Given the description of an element on the screen output the (x, y) to click on. 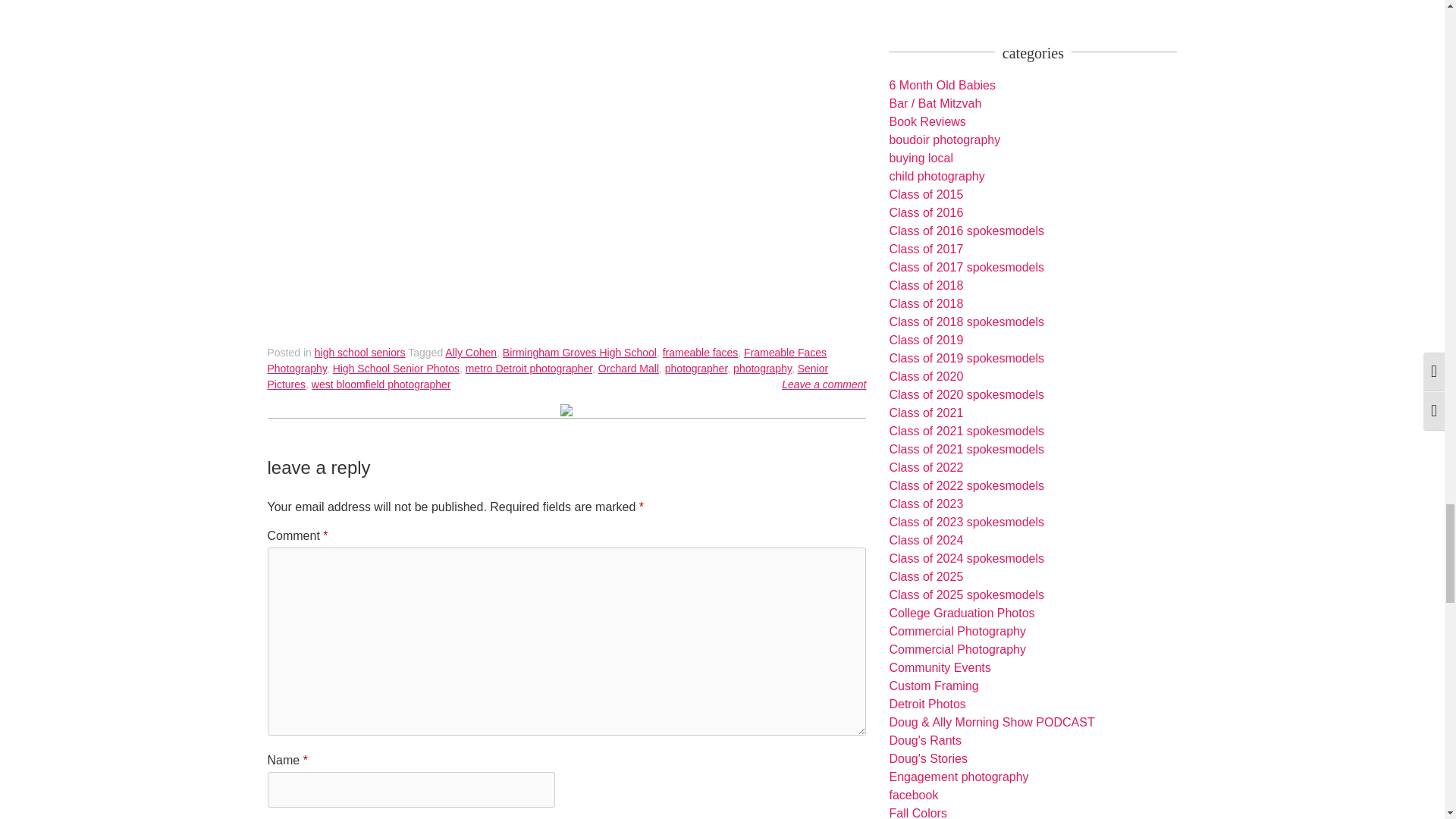
Ally Cohen (470, 352)
high school seniors (360, 352)
Birmingham Groves High School (579, 352)
